Given the description of an element on the screen output the (x, y) to click on. 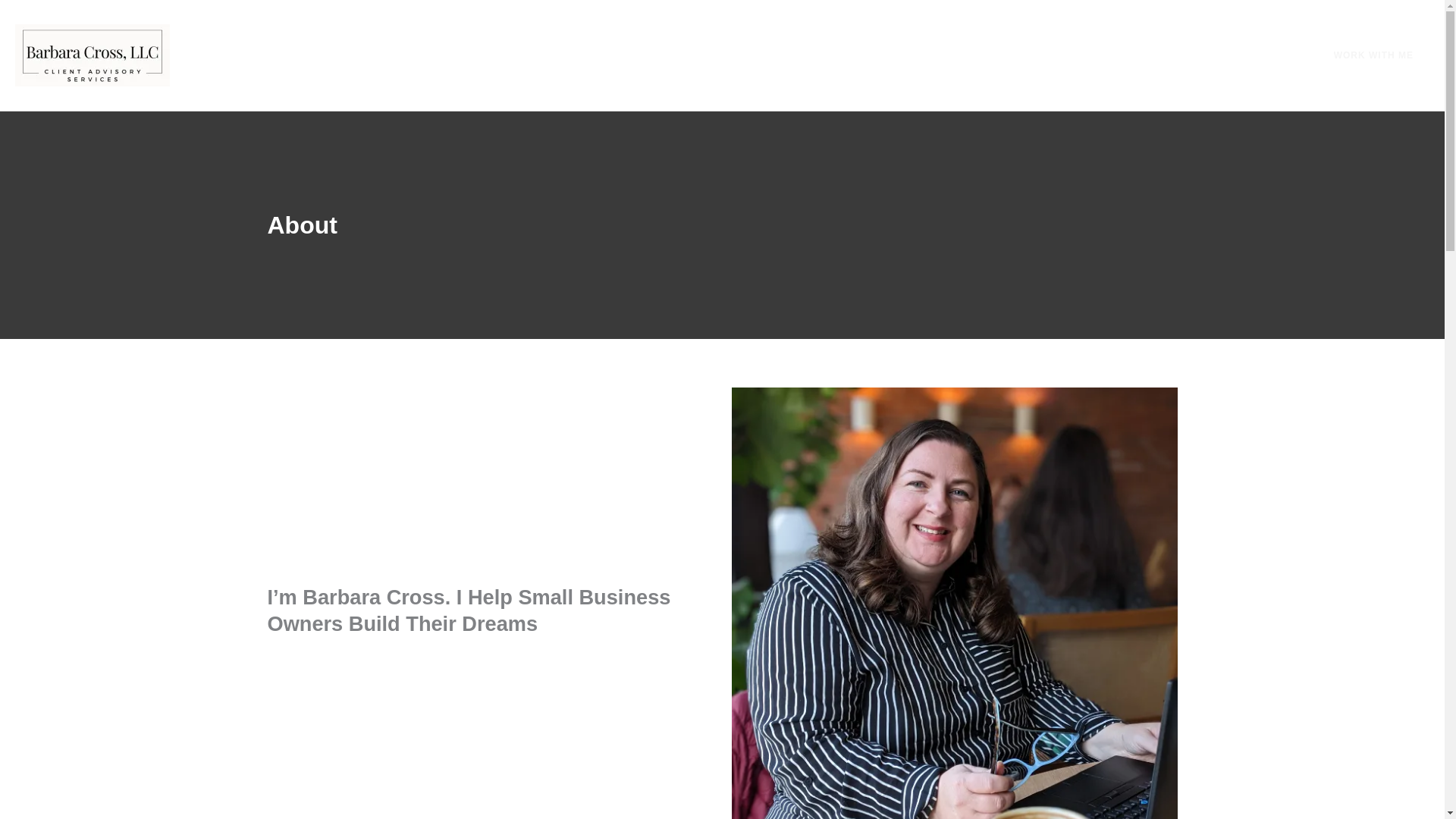
Contact (929, 54)
WORK WITH ME (1364, 55)
About (861, 54)
For Non Profit Organizations (566, 54)
For Small Business Owners (742, 54)
